Given the description of an element on the screen output the (x, y) to click on. 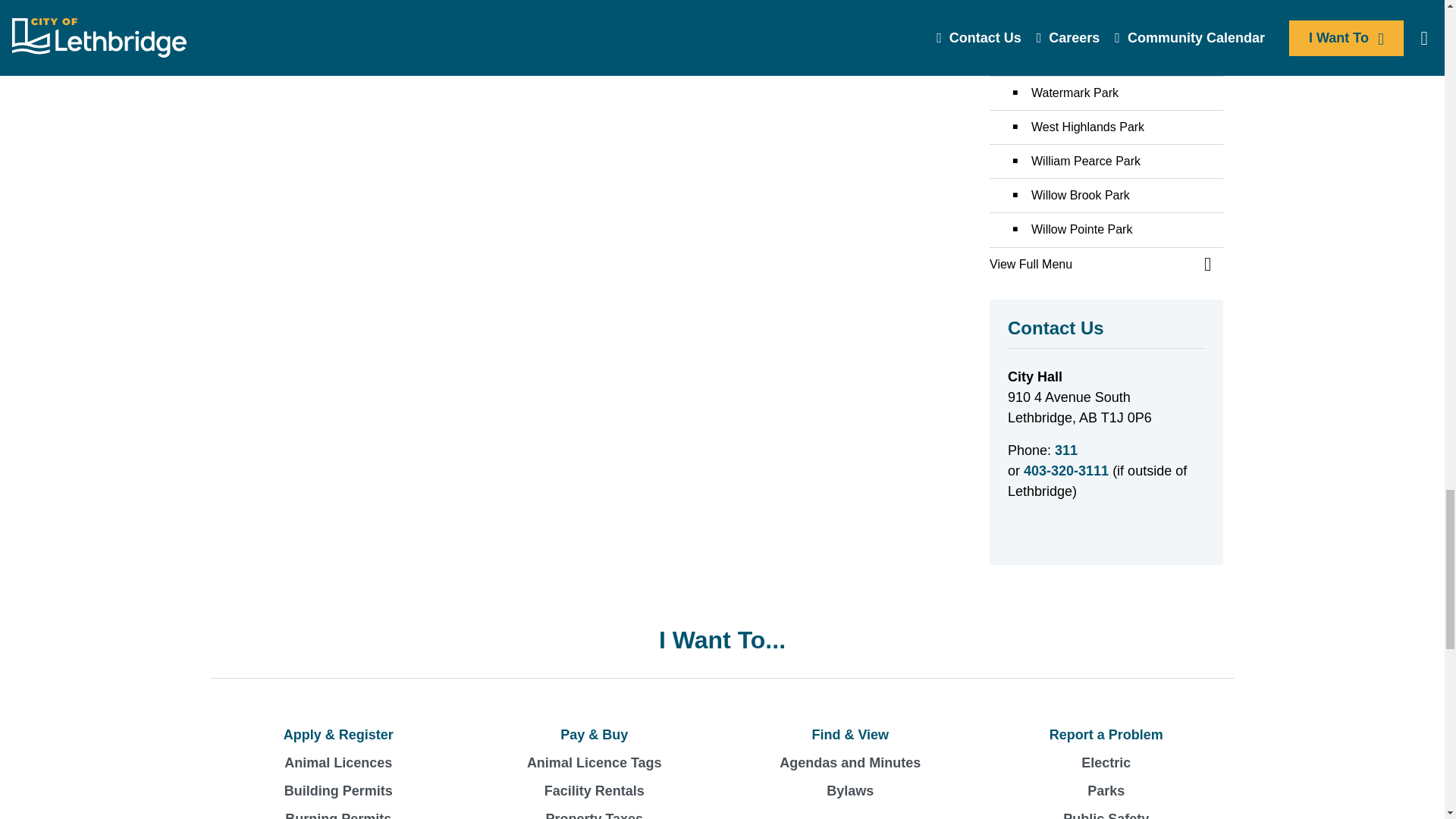
Building Permits and Applications (338, 791)
Animal Licences (338, 763)
